Given the description of an element on the screen output the (x, y) to click on. 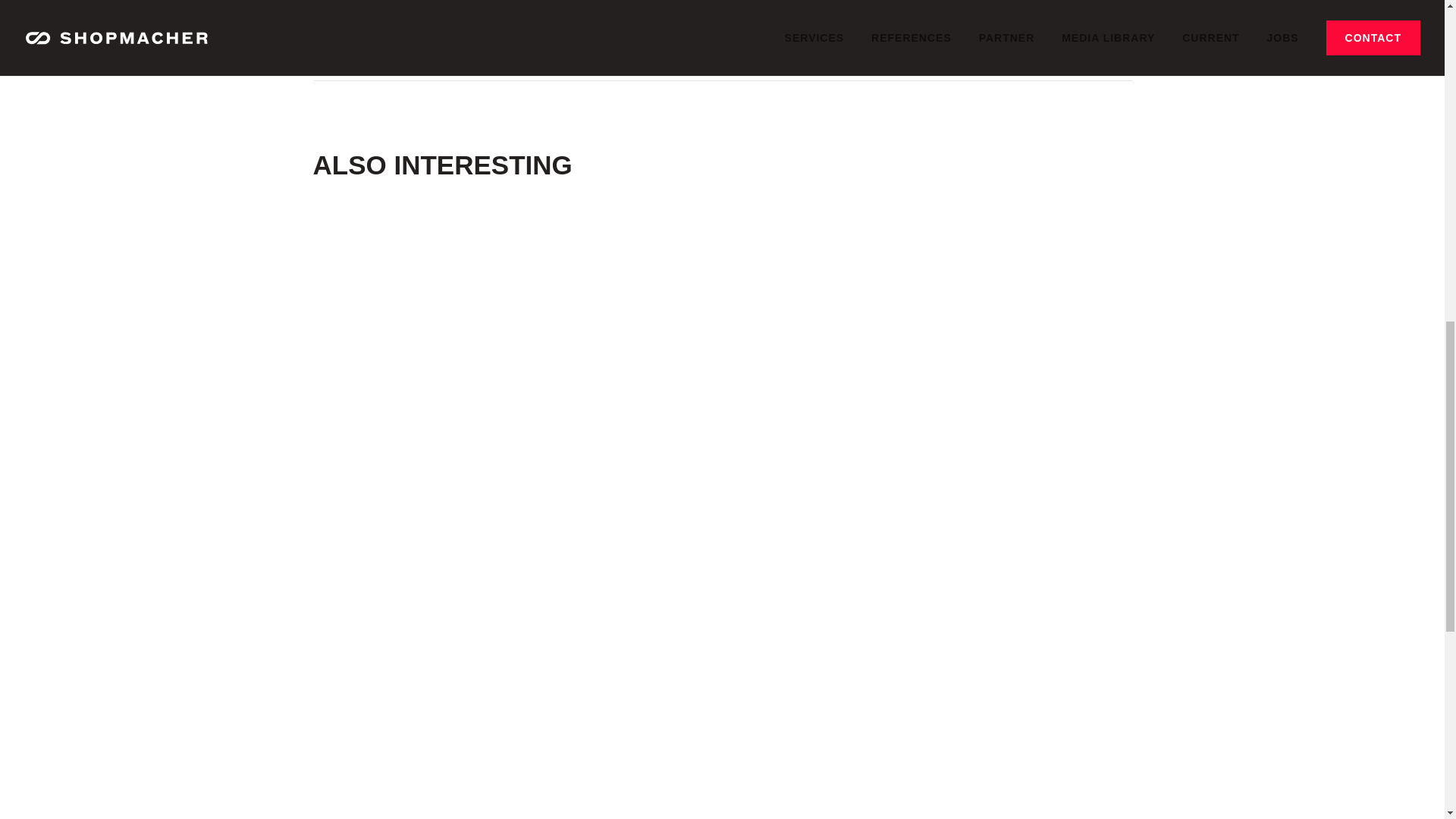
Follow on Twitter (479, 18)
Follow on LinkedIn (412, 18)
Follow on Facebook (378, 18)
Follow on Instagram (445, 18)
Follow on Youtube (512, 18)
